Given the description of an element on the screen output the (x, y) to click on. 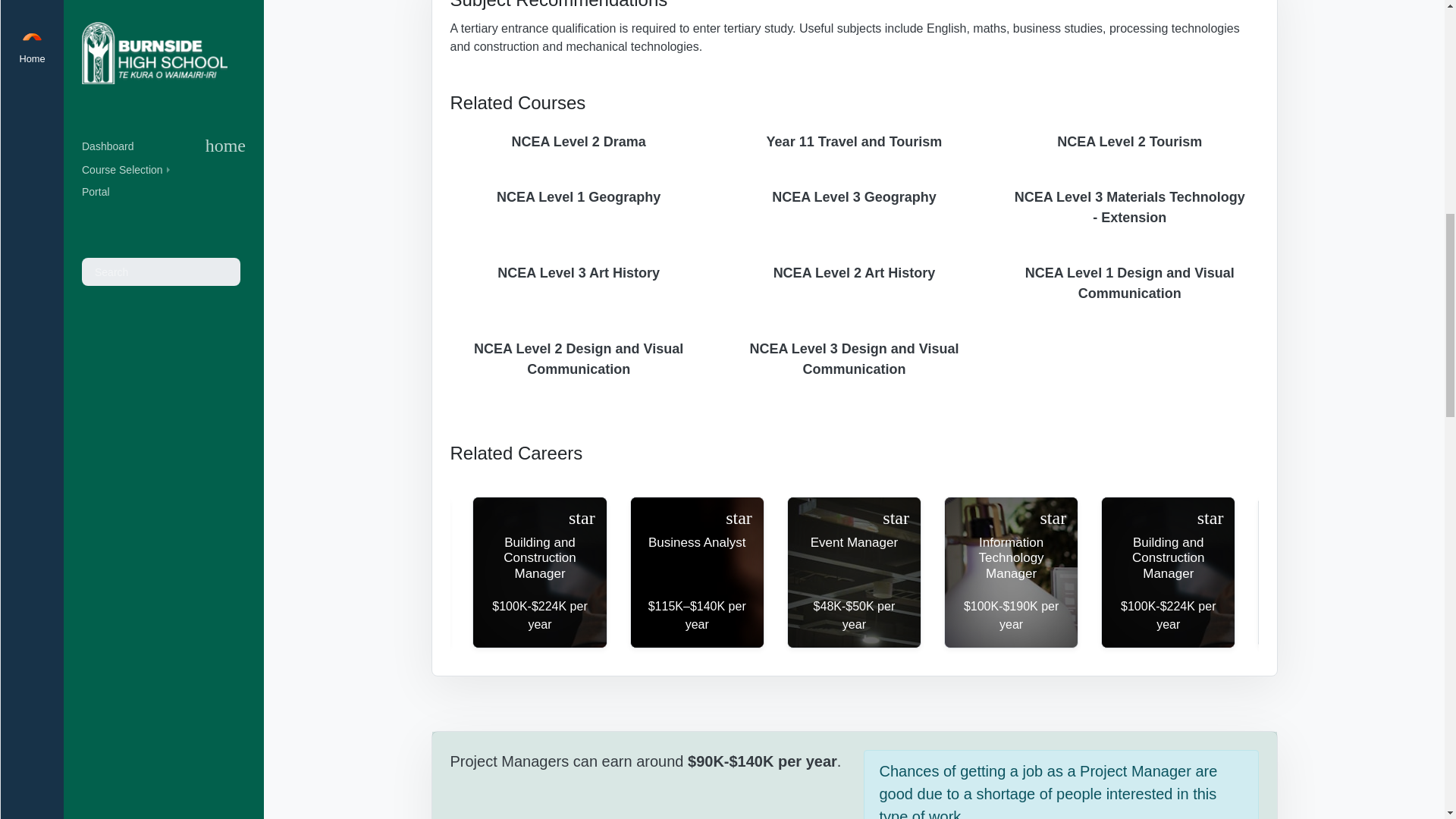
NCEA Level 3 Art History (578, 272)
NCEA Level 3 Geography (853, 197)
NCEA Level 3 Materials Technology - Extension (1129, 207)
star (895, 518)
NCEA Level 2 Drama (578, 141)
NCEA Level 1 Geography (578, 197)
NCEA Level 2 Design and Visual Communication (578, 359)
NCEA Level 1 Design and Visual Communication (1129, 283)
NCEA Level 3 Design and Visual Communication (853, 359)
NCEA Level 2 Tourism (1129, 141)
Year 11 Travel and Tourism (853, 141)
NCEA Level 2 Art History (853, 272)
star (738, 518)
star (582, 518)
